Given the description of an element on the screen output the (x, y) to click on. 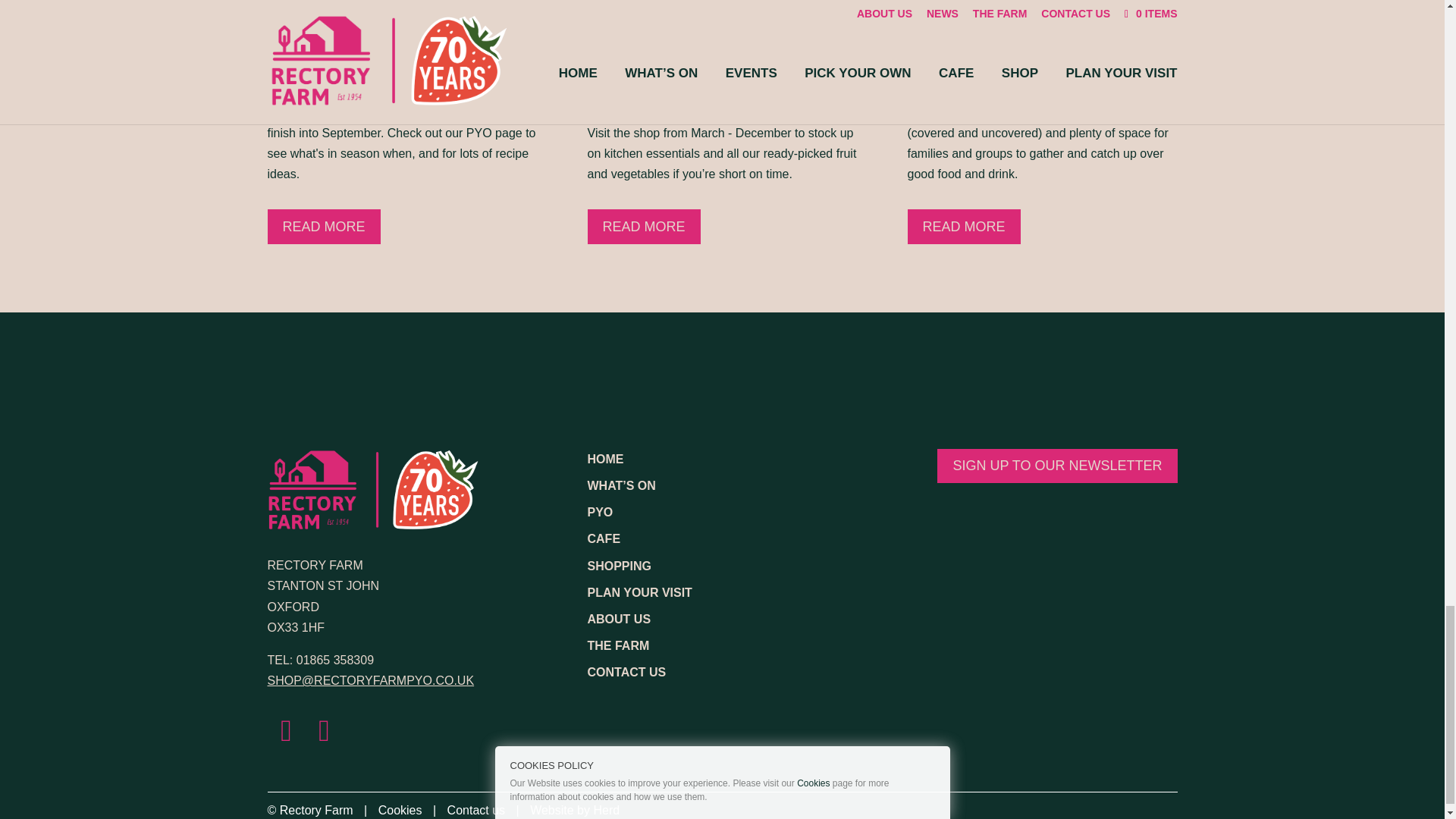
Rectory-Logo-pink-70 (372, 488)
HOME (604, 459)
READ MORE (323, 226)
READ MORE (643, 226)
READ MORE (963, 226)
